Given the description of an element on the screen output the (x, y) to click on. 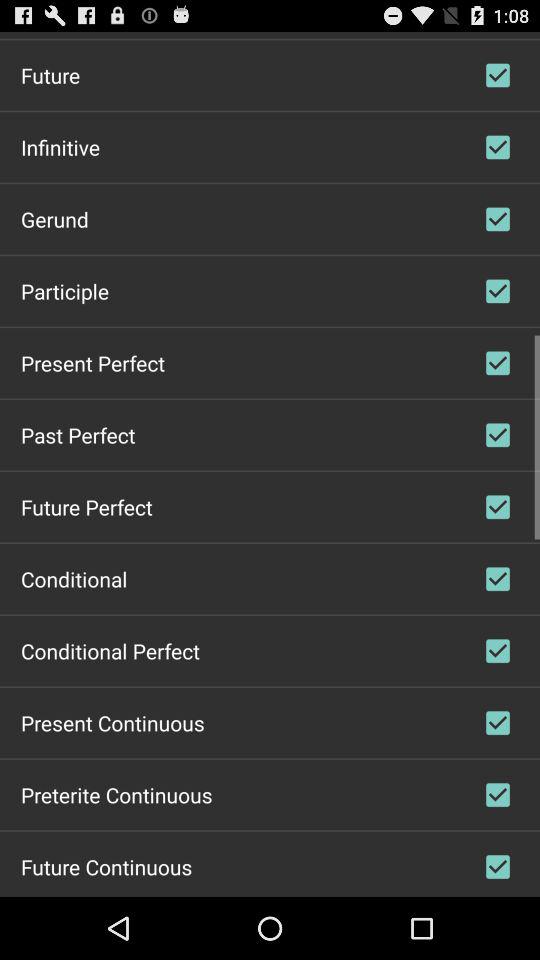
tap app below future icon (60, 146)
